Given the description of an element on the screen output the (x, y) to click on. 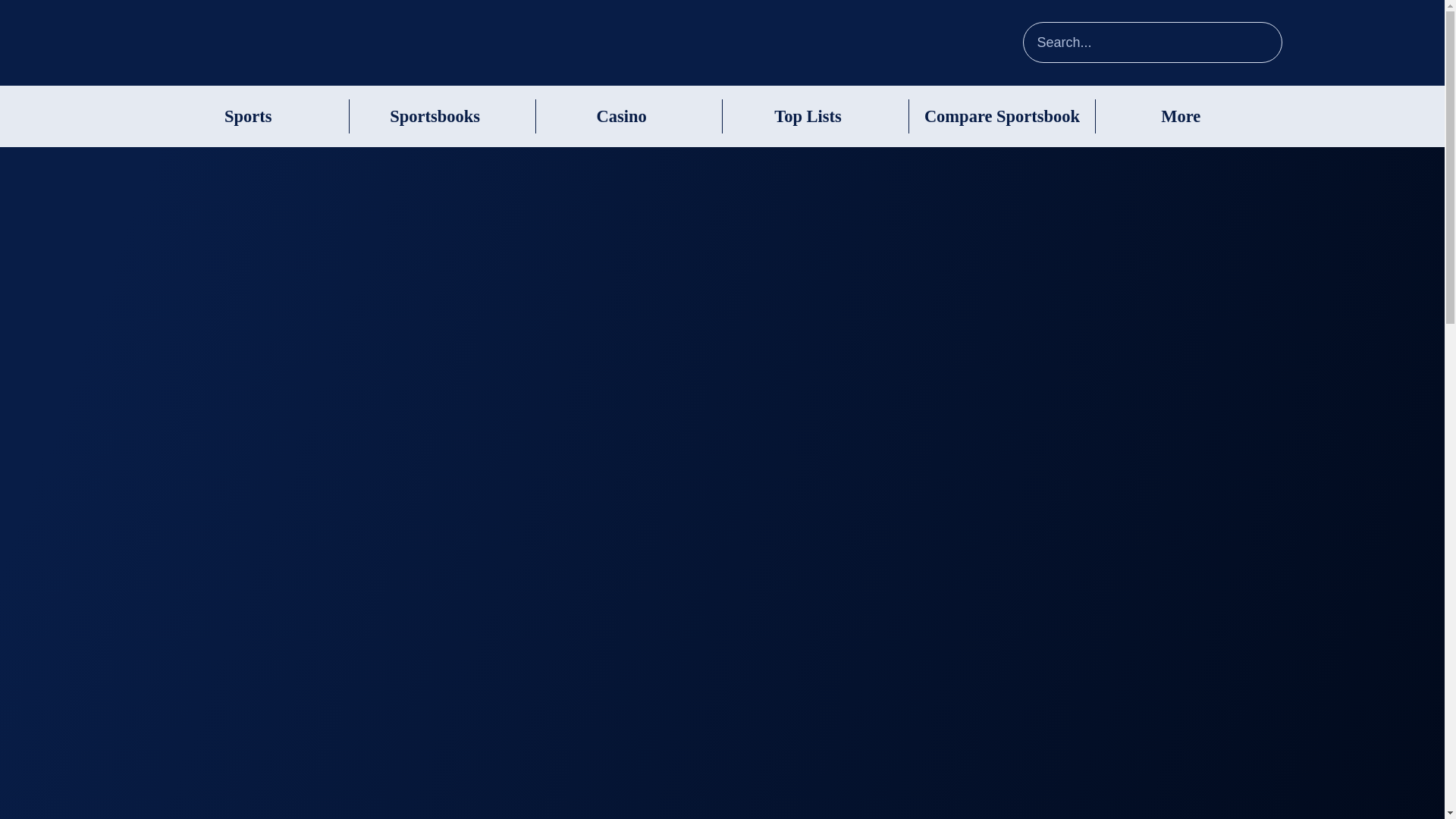
Sportsbooks (435, 116)
Sports (248, 116)
Top Lists (807, 116)
Casino (620, 116)
